Given the description of an element on the screen output the (x, y) to click on. 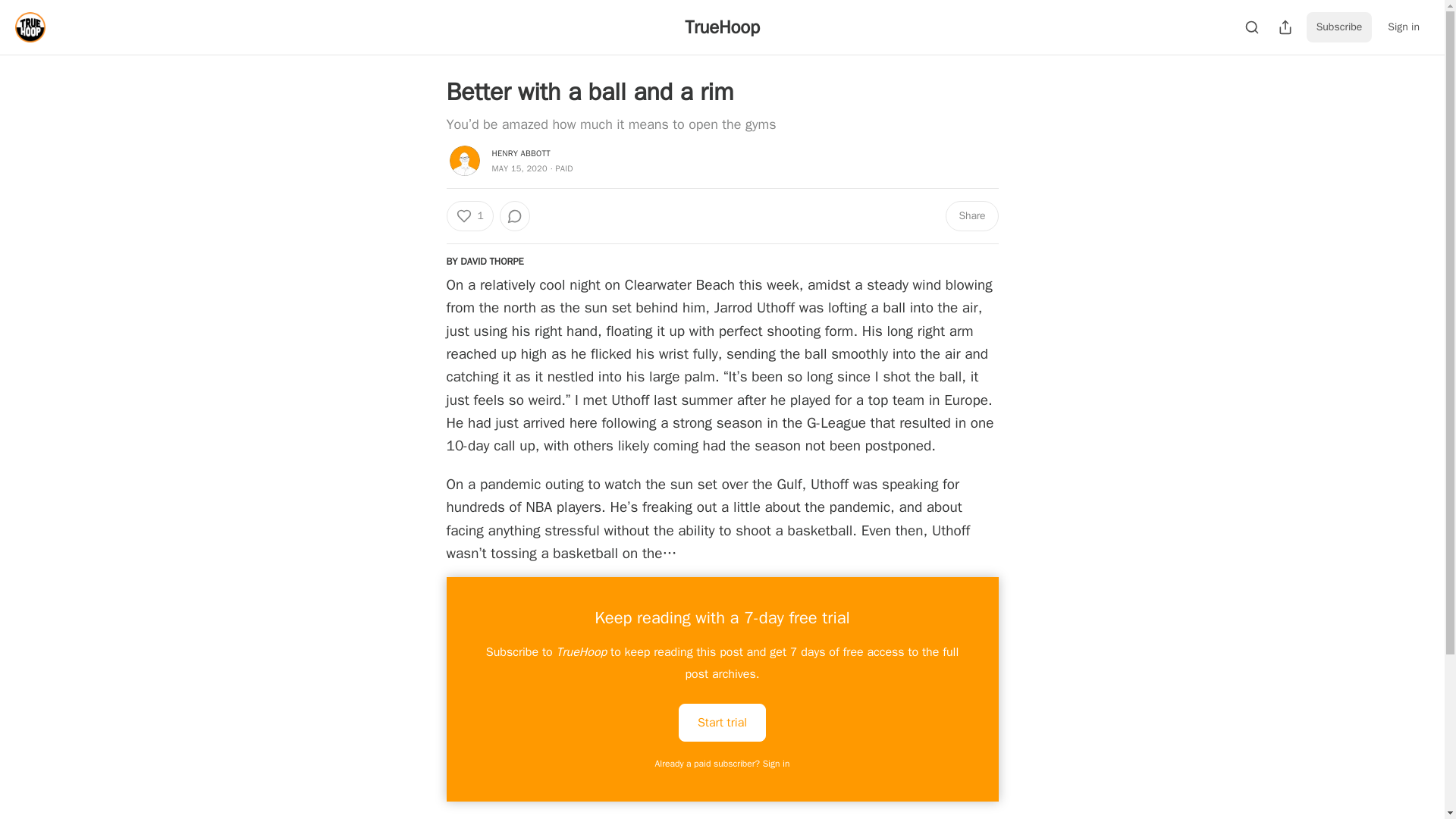
Share (970, 215)
TrueHoop (721, 26)
Sign in (1403, 27)
HENRY ABBOTT (521, 153)
Start trial (721, 722)
Start trial (721, 721)
Already a paid subscriber? Sign in (722, 763)
Subscribe (1339, 27)
1 (469, 215)
